Given the description of an element on the screen output the (x, y) to click on. 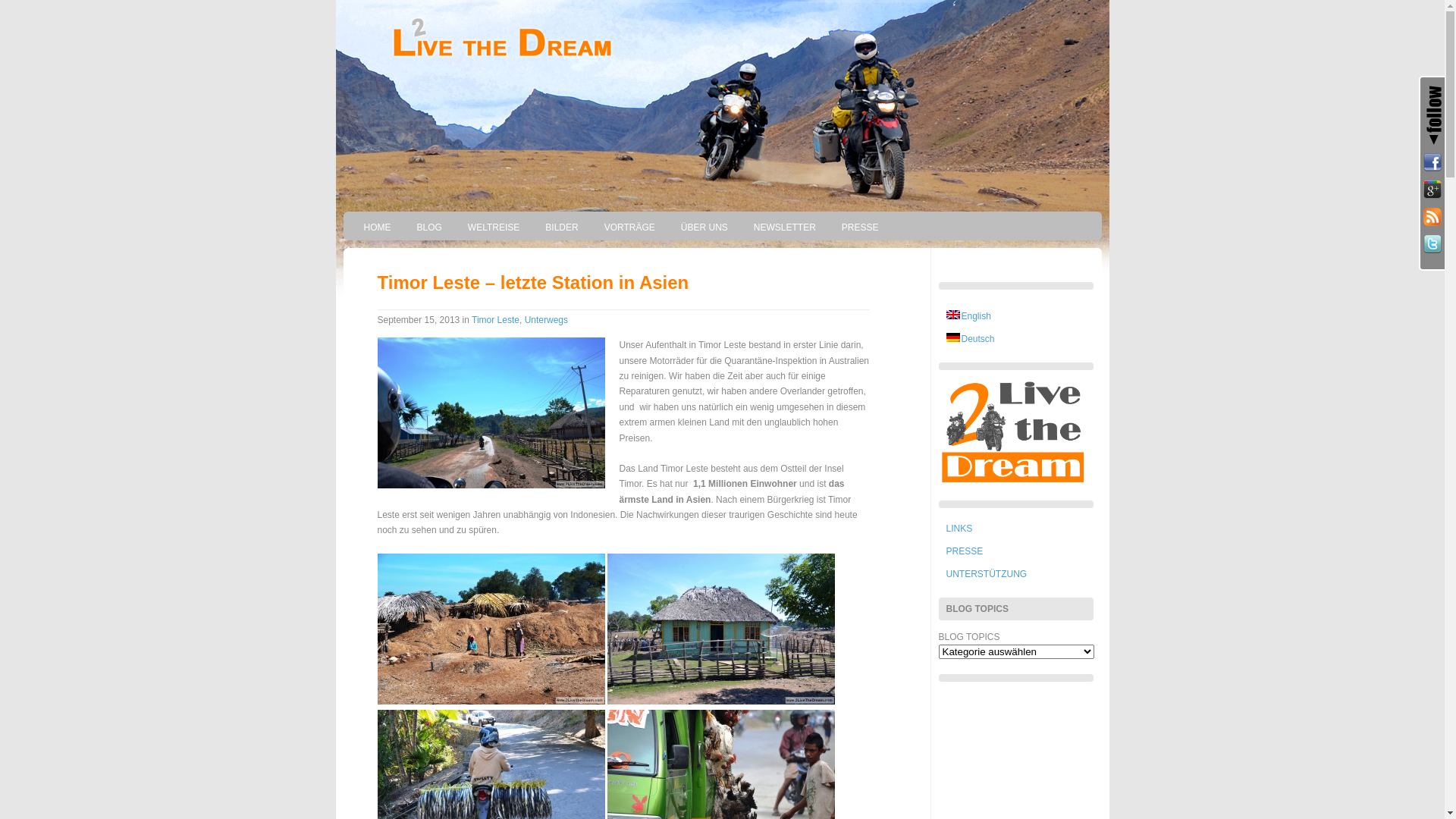
Add us Element type: hover (1432, 189)
Unterwegs Element type: text (545, 319)
Simple but nice - house in Timor Leste Element type: hover (720, 628)
Follow us Element type: hover (1432, 244)
BLOG Element type: text (428, 228)
PRESSE Element type: text (860, 228)
Deutsch Element type: text (970, 338)
BILDER Element type: text (561, 228)
HOME Element type: text (376, 228)
RSS-Feed Element type: hover (1432, 216)
PRESSE Element type: text (964, 551)
On the road in Timor Leste Element type: hover (495, 417)
WELTREISE Element type: text (493, 228)
Timor Leste Element type: text (495, 319)
NEWSLETTER Element type: text (784, 228)
Timor Leste - at a small village along the road Element type: hover (491, 628)
Follow us Element type: hover (1432, 162)
LINKS Element type: text (959, 527)
English Element type: text (968, 316)
